Given the description of an element on the screen output the (x, y) to click on. 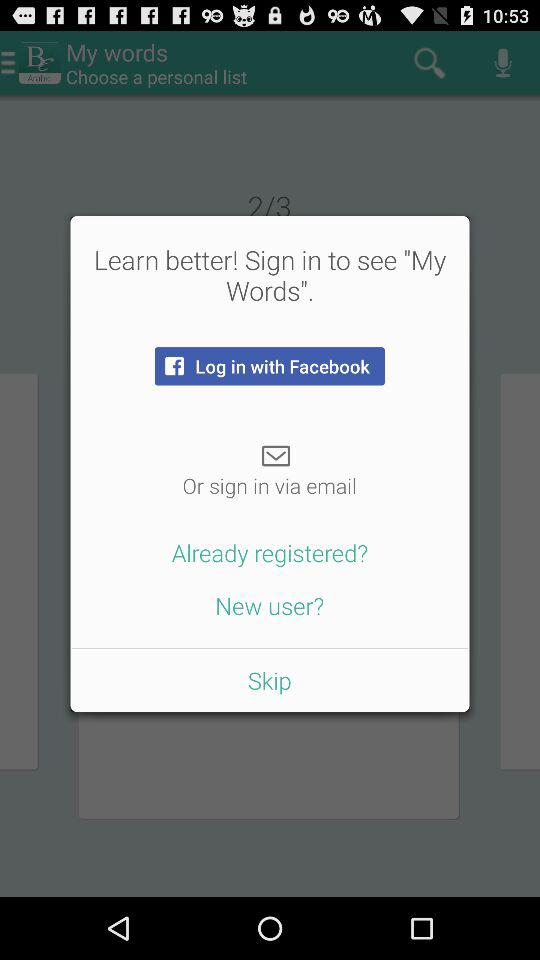
press the log in with (269, 366)
